Given the description of an element on the screen output the (x, y) to click on. 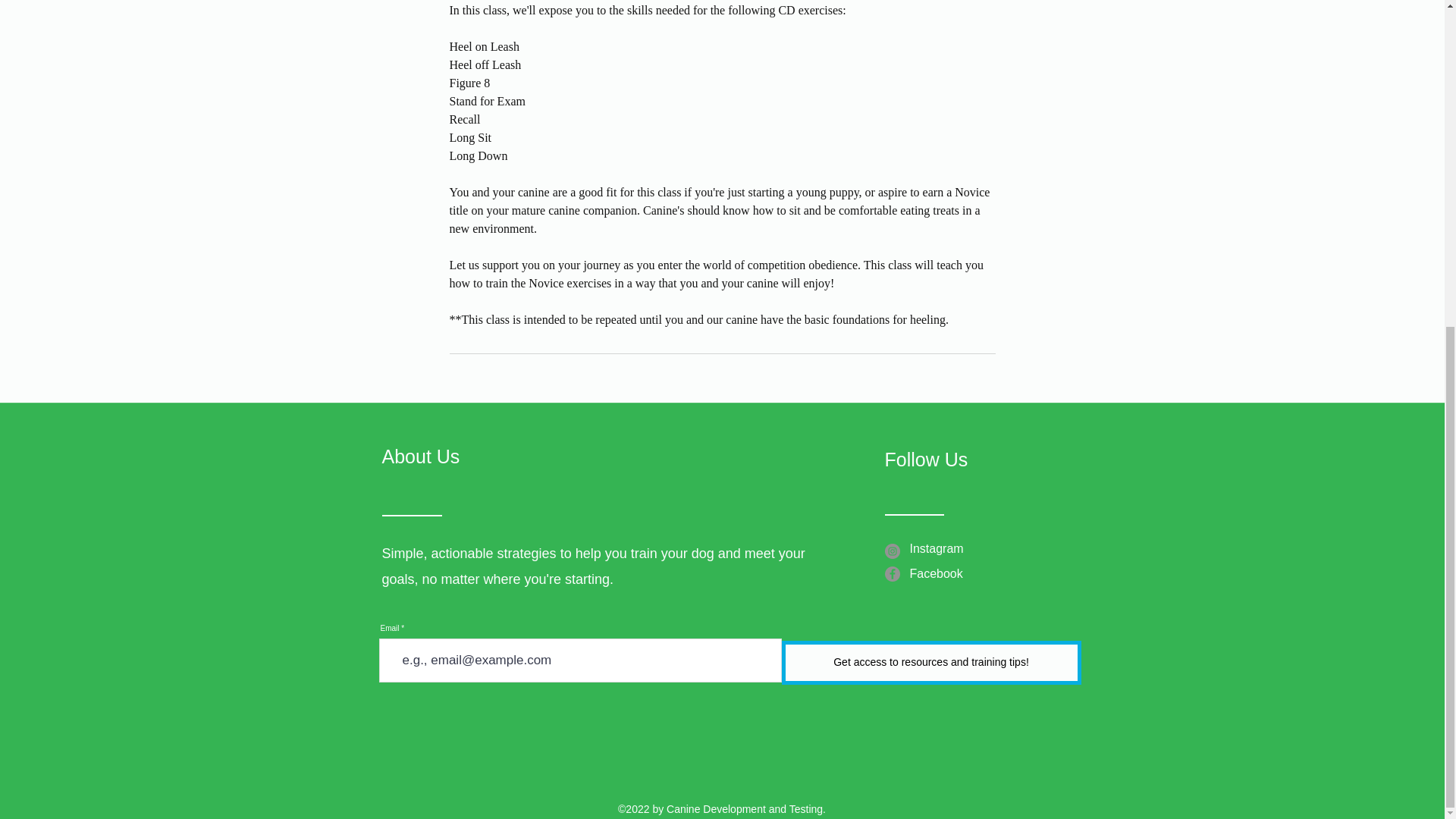
Get access to resources and training tips! (930, 662)
